Given the description of an element on the screen output the (x, y) to click on. 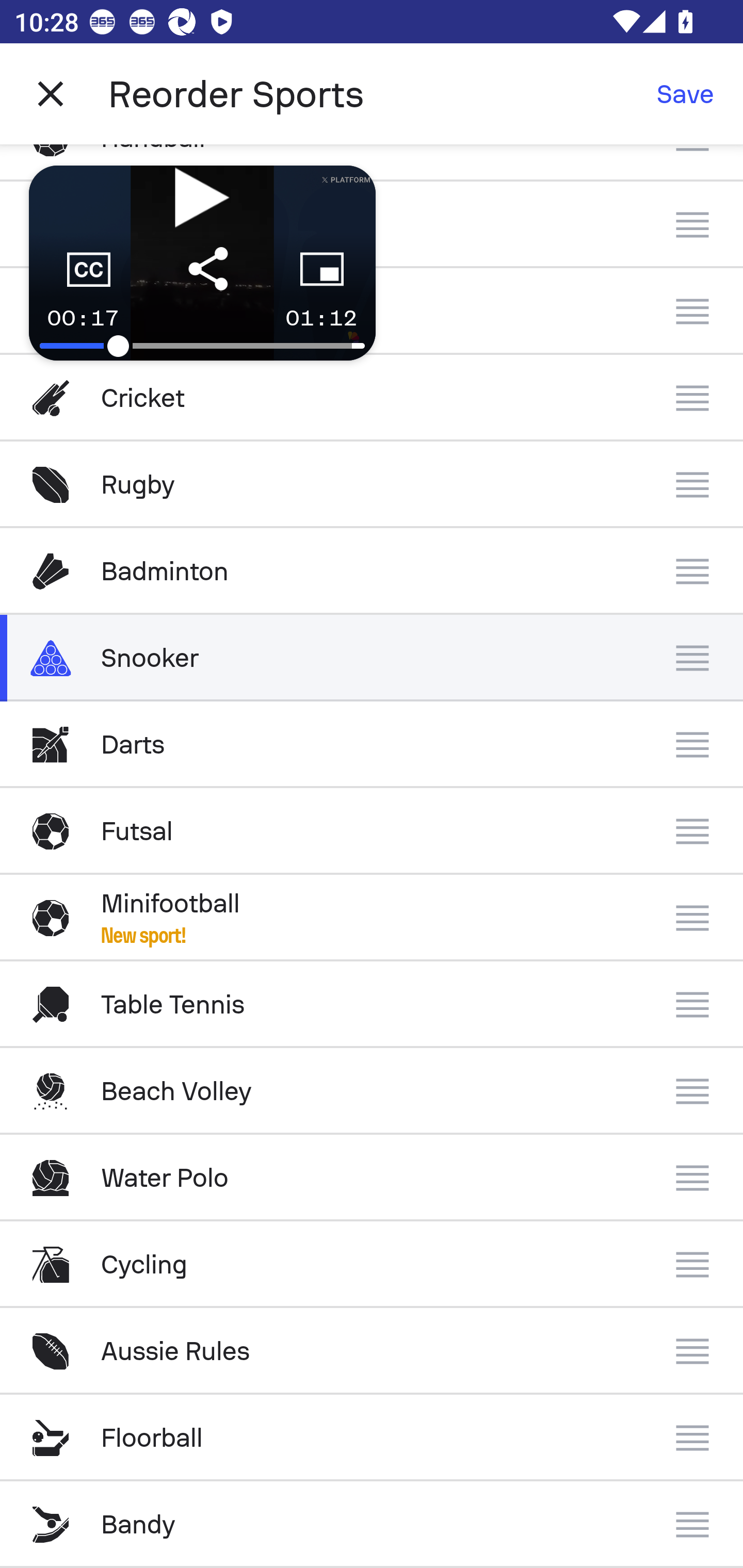
Save (684, 93)
Cricket (371, 398)
Rugby (371, 485)
Badminton (371, 571)
Snooker (371, 657)
Darts (371, 744)
Futsal (371, 831)
Minifootball New sport! (371, 917)
Table Tennis (371, 1004)
Beach Volley (371, 1091)
Water Polo (371, 1178)
Cycling (371, 1264)
Aussie Rules (371, 1350)
Floorball (371, 1437)
Bandy (371, 1524)
